Given the description of an element on the screen output the (x, y) to click on. 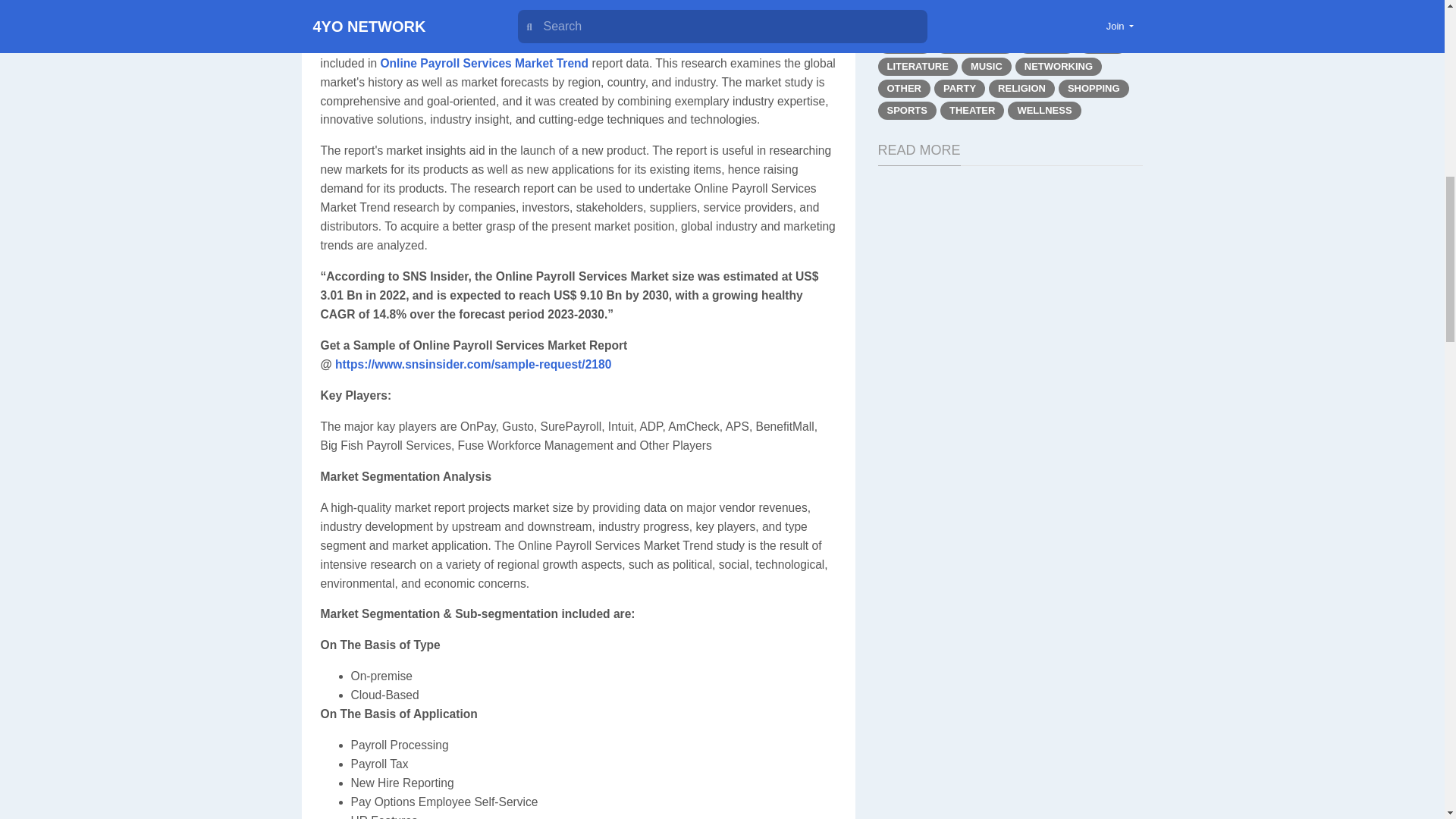
Online Payroll Services Market Trend (484, 62)
